Given the description of an element on the screen output the (x, y) to click on. 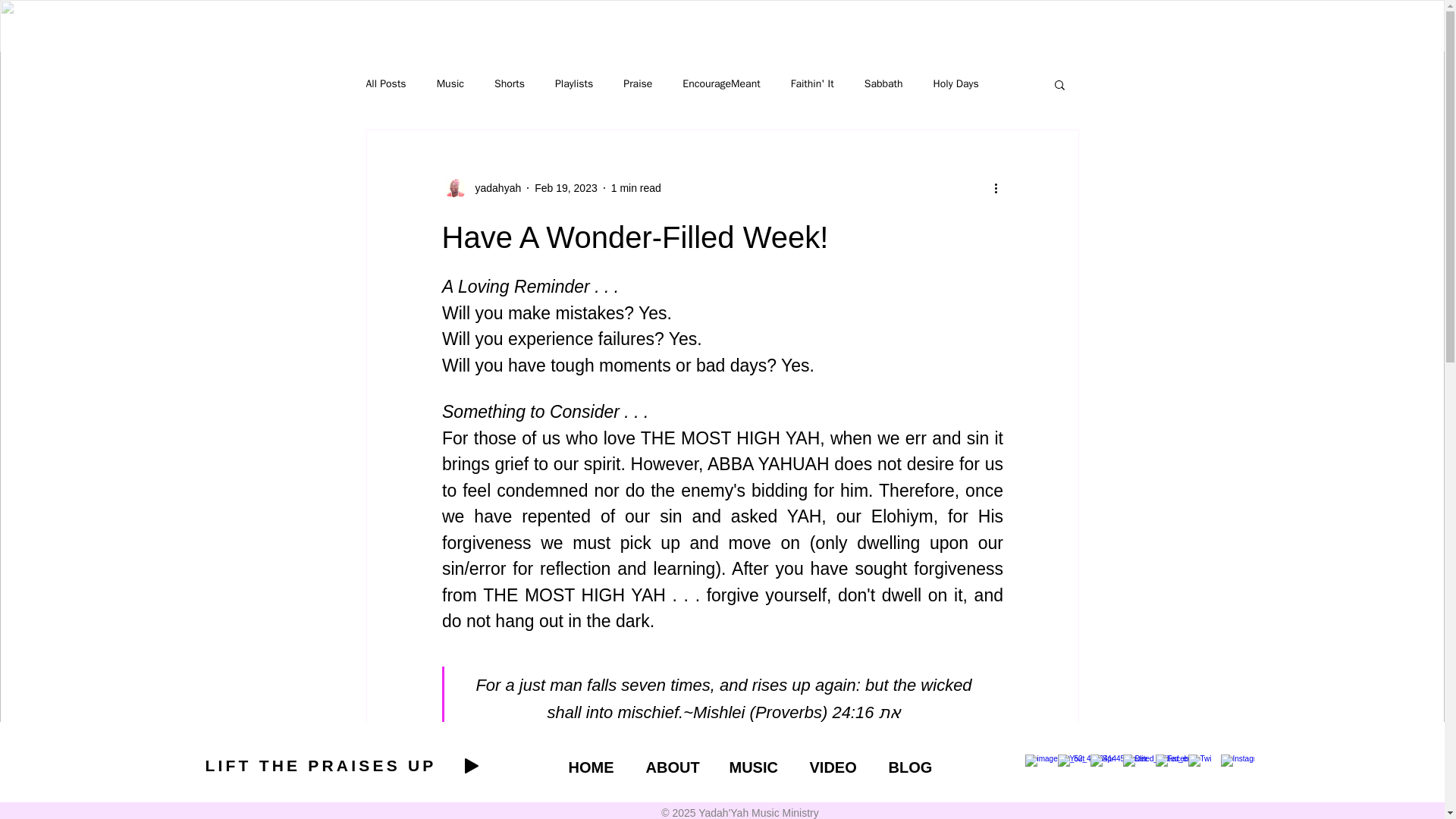
Mercies Falling by Yadah'Yah (755, 774)
EncourageMeant (721, 83)
All Posts (385, 83)
Faithin' It (812, 83)
1 min read (636, 187)
Shorts (509, 83)
Feb 19, 2023 (565, 187)
Playlists (573, 83)
yadahyah (481, 187)
Praise (637, 83)
